Given the description of an element on the screen output the (x, y) to click on. 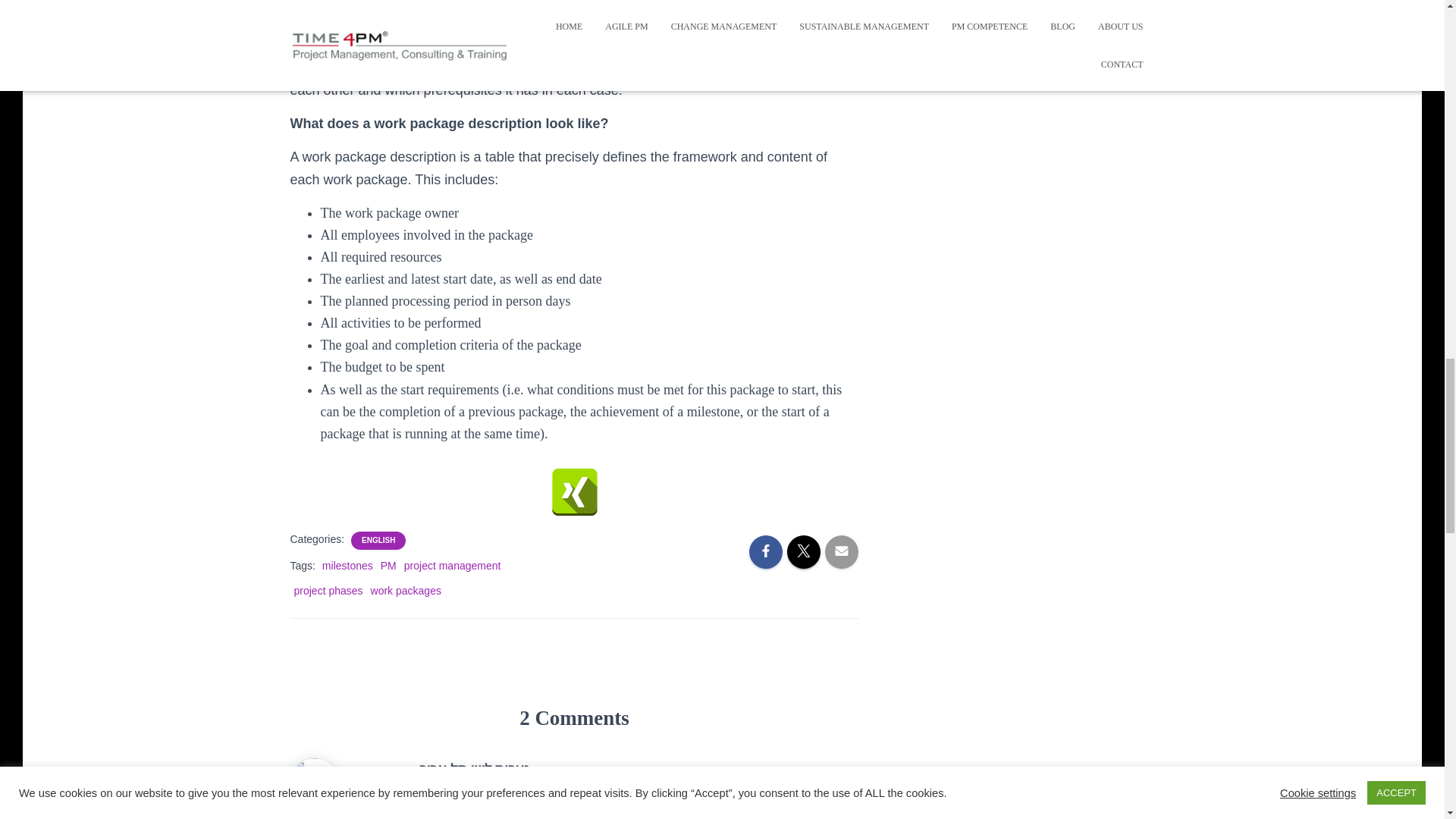
milestones (346, 565)
project management (452, 565)
XING (574, 491)
PM (388, 565)
ENGLISH (377, 540)
work packages (406, 590)
project phases (328, 590)
